Given the description of an element on the screen output the (x, y) to click on. 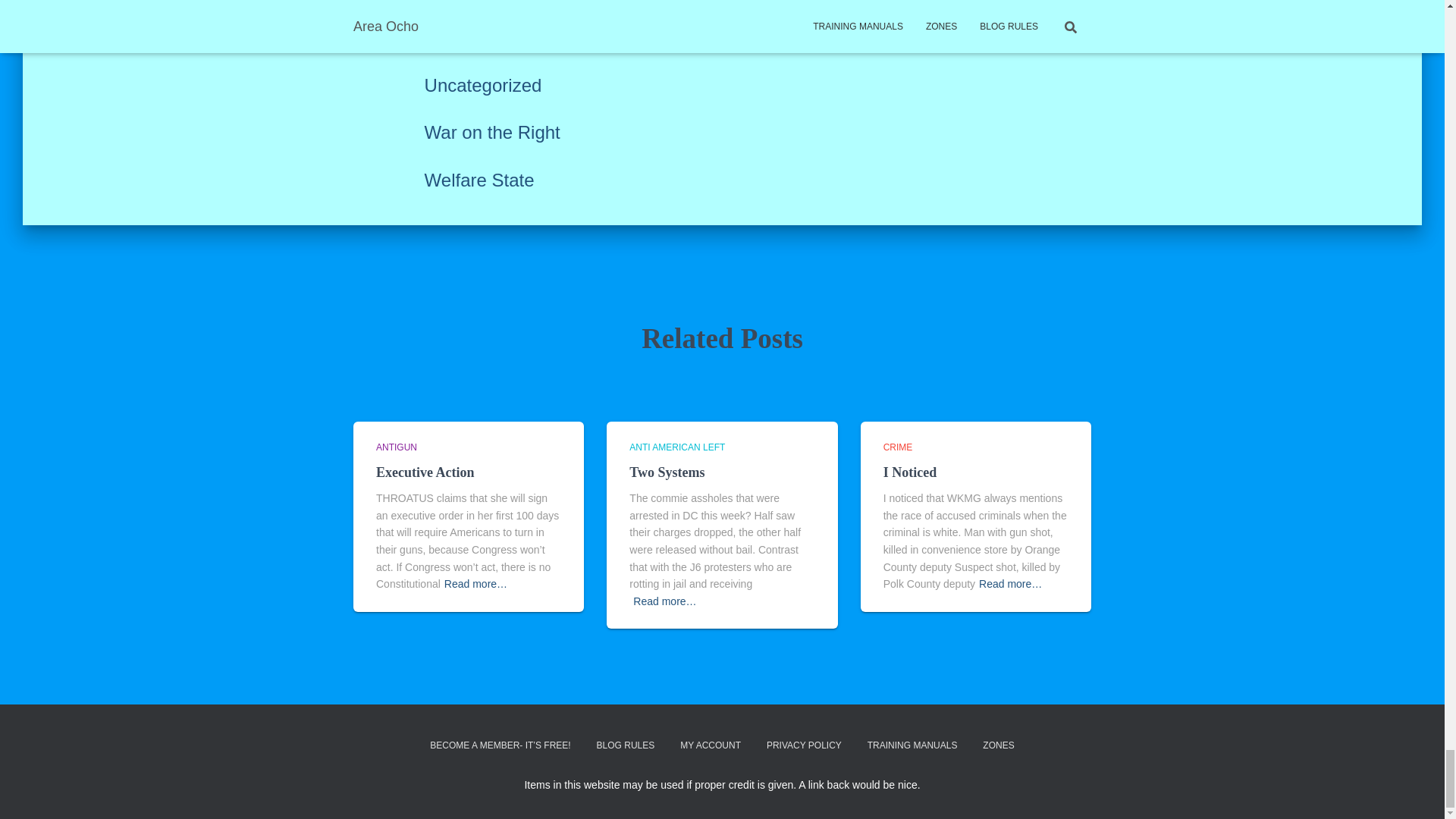
I Noticed (910, 472)
View all posts in Crime (897, 447)
Two Systems (666, 472)
Executive Action (424, 472)
View all posts in Antigun (395, 447)
View all posts in Anti American left (676, 447)
